Given the description of an element on the screen output the (x, y) to click on. 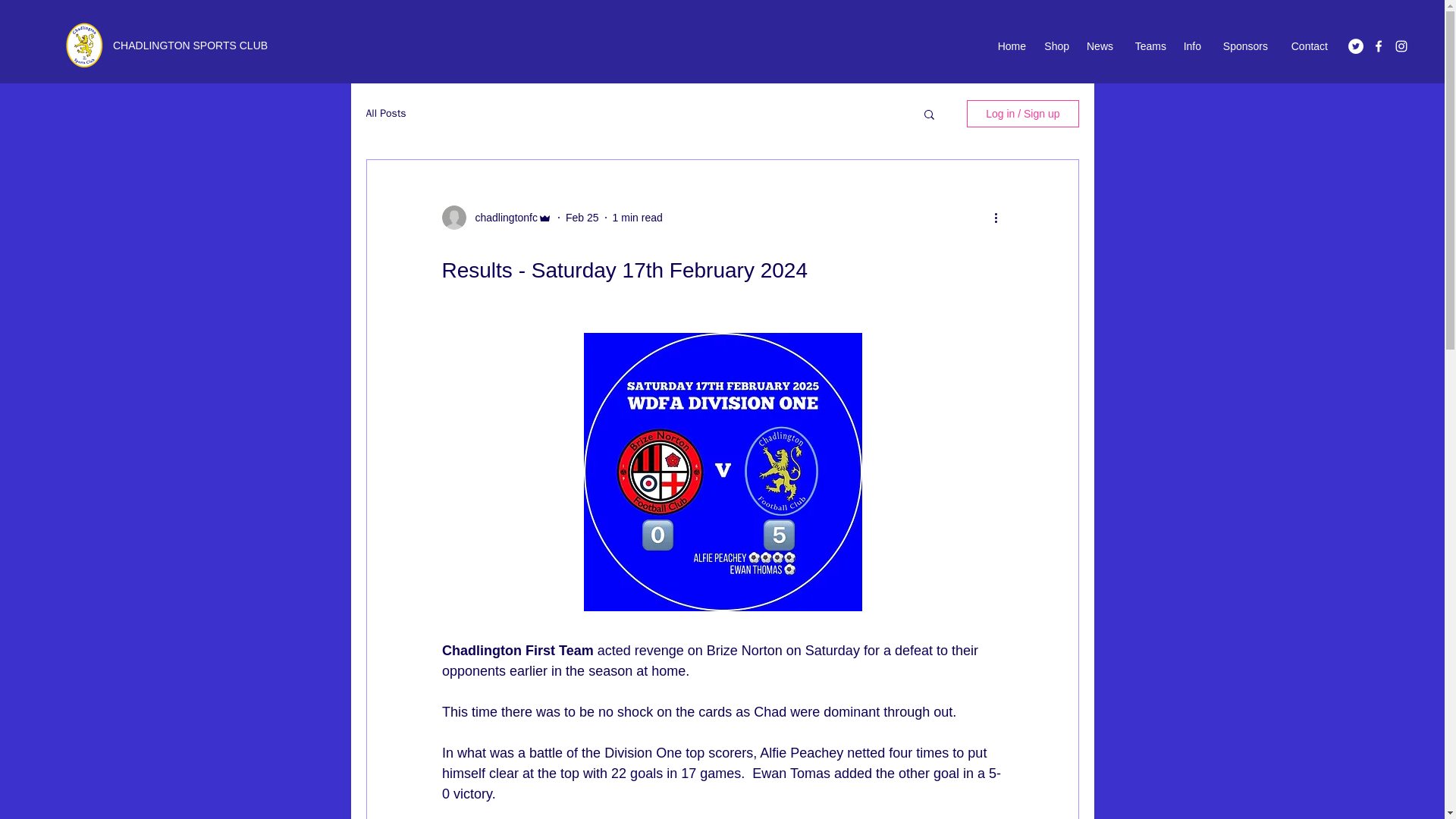
Teams (1147, 46)
Sponsors (1241, 46)
News (1099, 46)
All Posts (385, 113)
1 min read (637, 216)
Home (1009, 46)
chadlingtonfc (501, 217)
Shop (1055, 46)
Info (1190, 46)
CHADLINGTON SPORTS CLUB (190, 45)
